Given the description of an element on the screen output the (x, y) to click on. 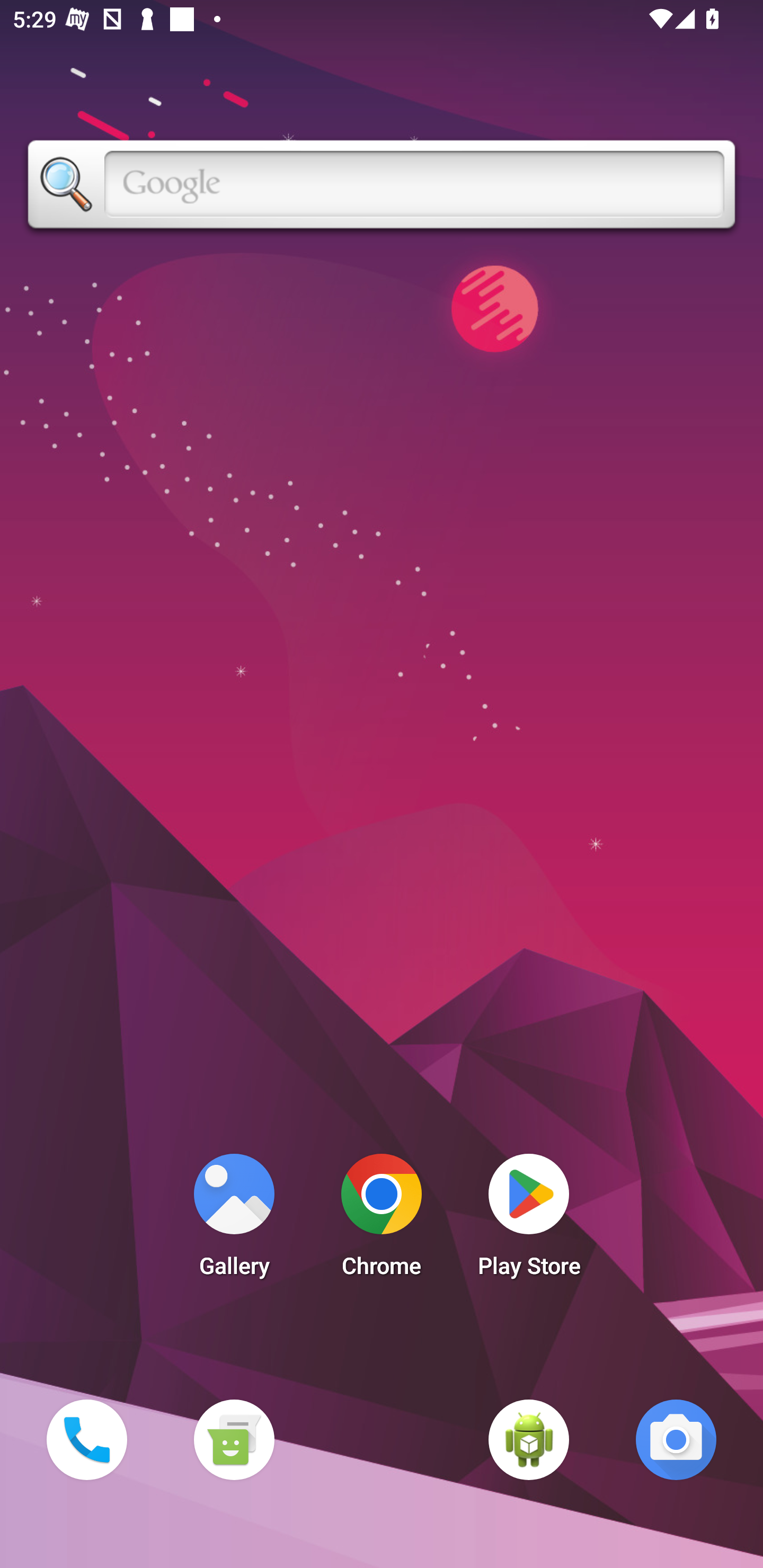
Gallery (233, 1220)
Chrome (381, 1220)
Play Store (528, 1220)
Phone (86, 1439)
Messaging (233, 1439)
WebView Browser Tester (528, 1439)
Camera (676, 1439)
